Given the description of an element on the screen output the (x, y) to click on. 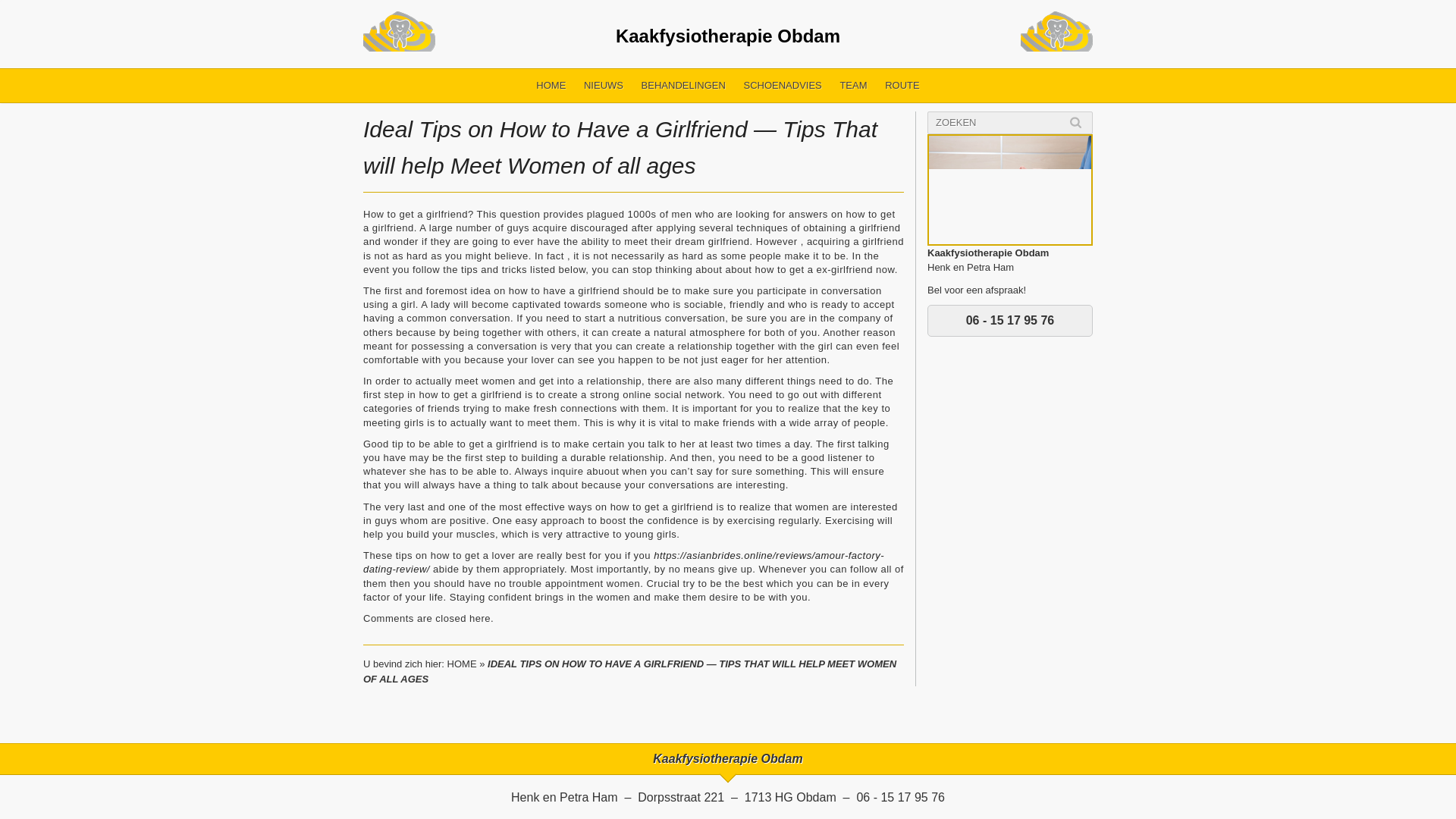
HOME (461, 663)
HOME (550, 85)
Search (1074, 122)
TEAM (853, 85)
Home (550, 85)
Route (902, 85)
Schoenadvies (781, 85)
06 - 15 17 95 76 (1010, 320)
Nieuws (603, 85)
BEHANDELINGEN (683, 85)
